Given the description of an element on the screen output the (x, y) to click on. 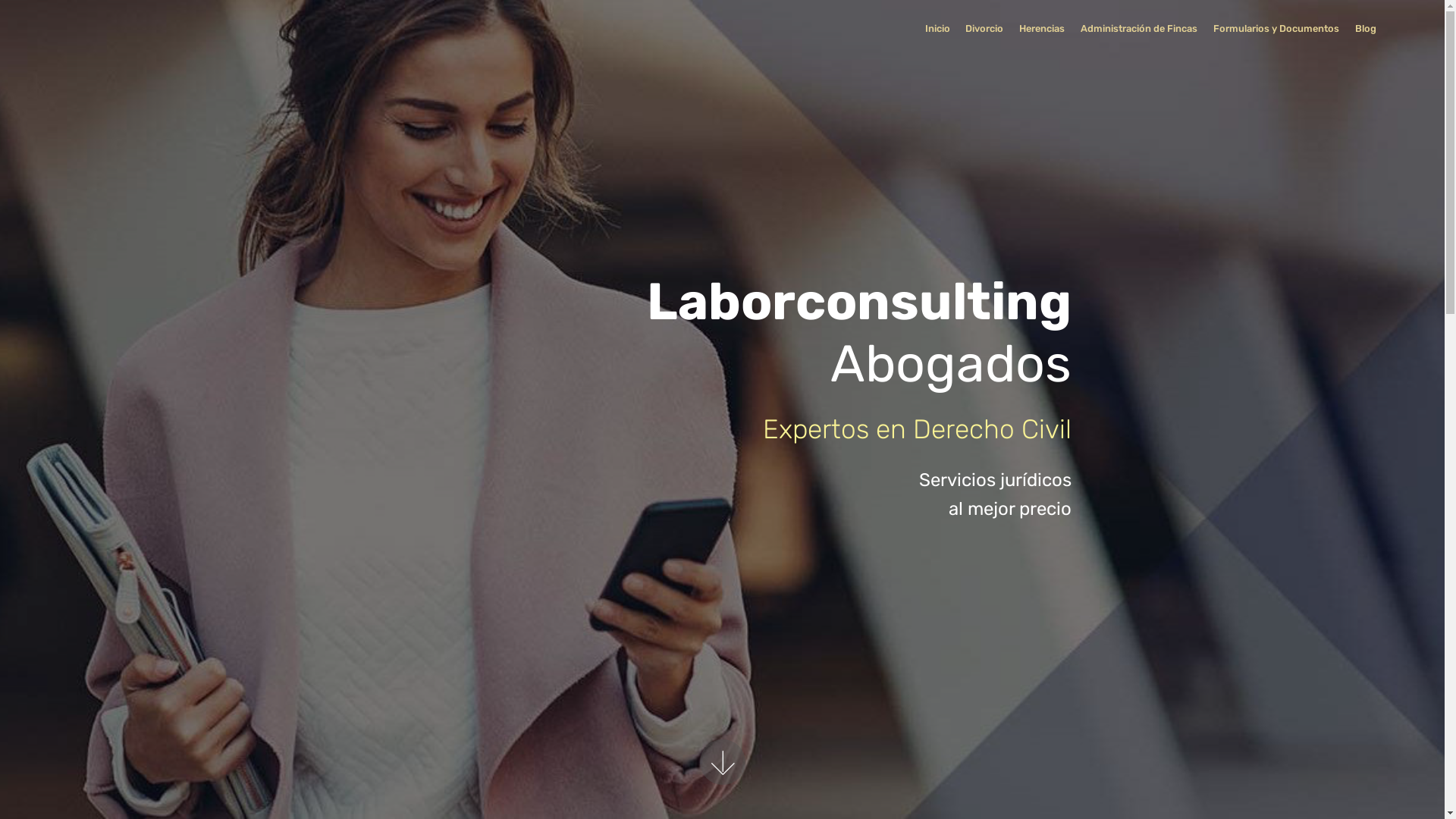
Divorcio Element type: text (984, 28)
Blog Element type: text (1365, 28)
Herencias Element type: text (1041, 28)
Inicio Element type: text (937, 28)
Formularios y Documentos Element type: text (1276, 28)
